Given the description of an element on the screen output the (x, y) to click on. 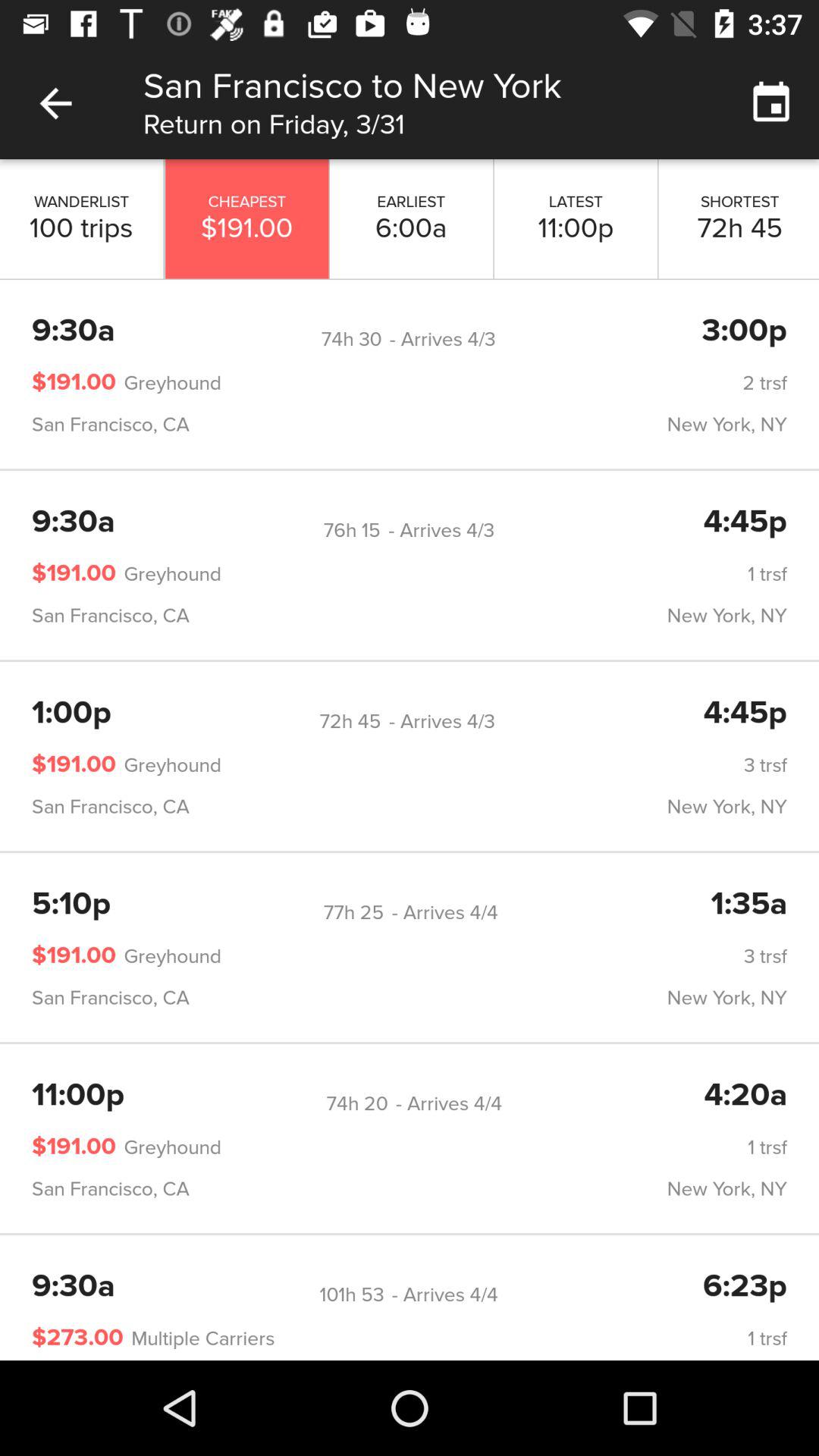
turn off item to the left of the - arrives 4/4 icon (351, 1294)
